Given the description of an element on the screen output the (x, y) to click on. 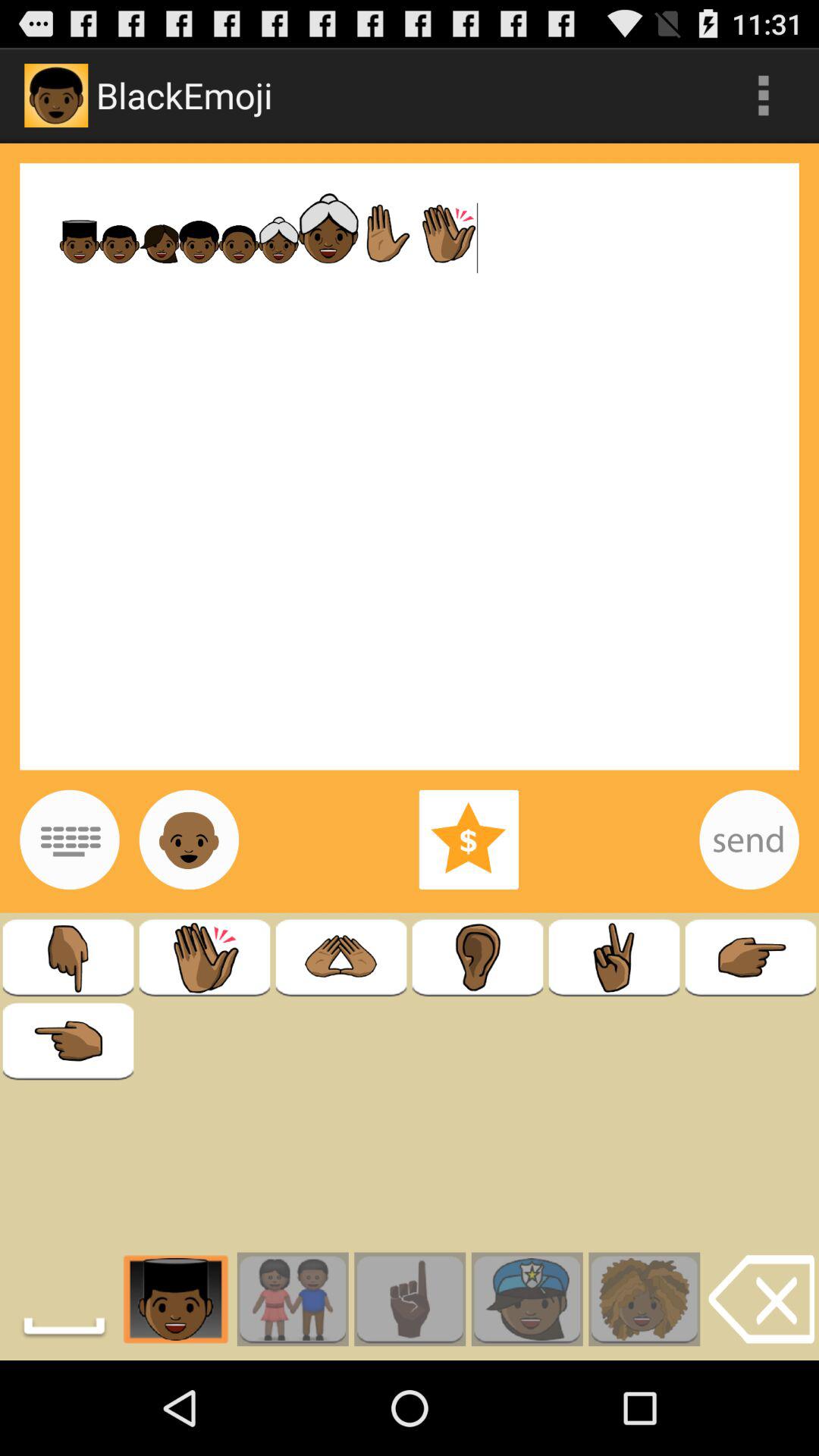
the button is used to key pad (69, 839)
